Given the description of an element on the screen output the (x, y) to click on. 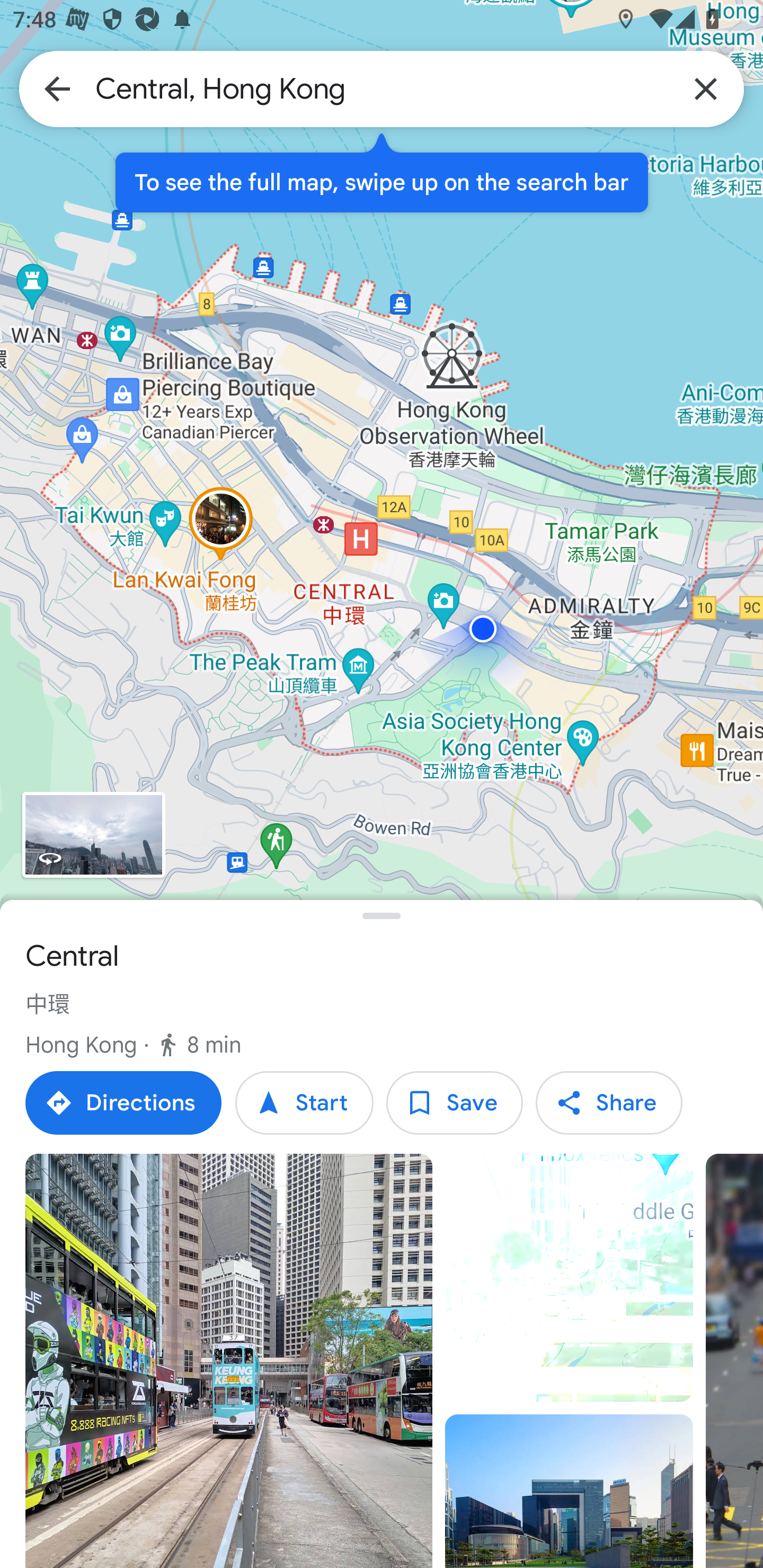
Back (57, 88)
Central, Hong Kong (381, 88)
Clear (705, 88)
View Street view imagery for Central (93, 834)
Start Start Start (304, 1102)
Save Central to lists Save Save Central to lists (454, 1102)
Share Central Share Share Central (608, 1102)
Photo (228, 1361)
Video (568, 1277)
Photo (568, 1491)
